Given the description of an element on the screen output the (x, y) to click on. 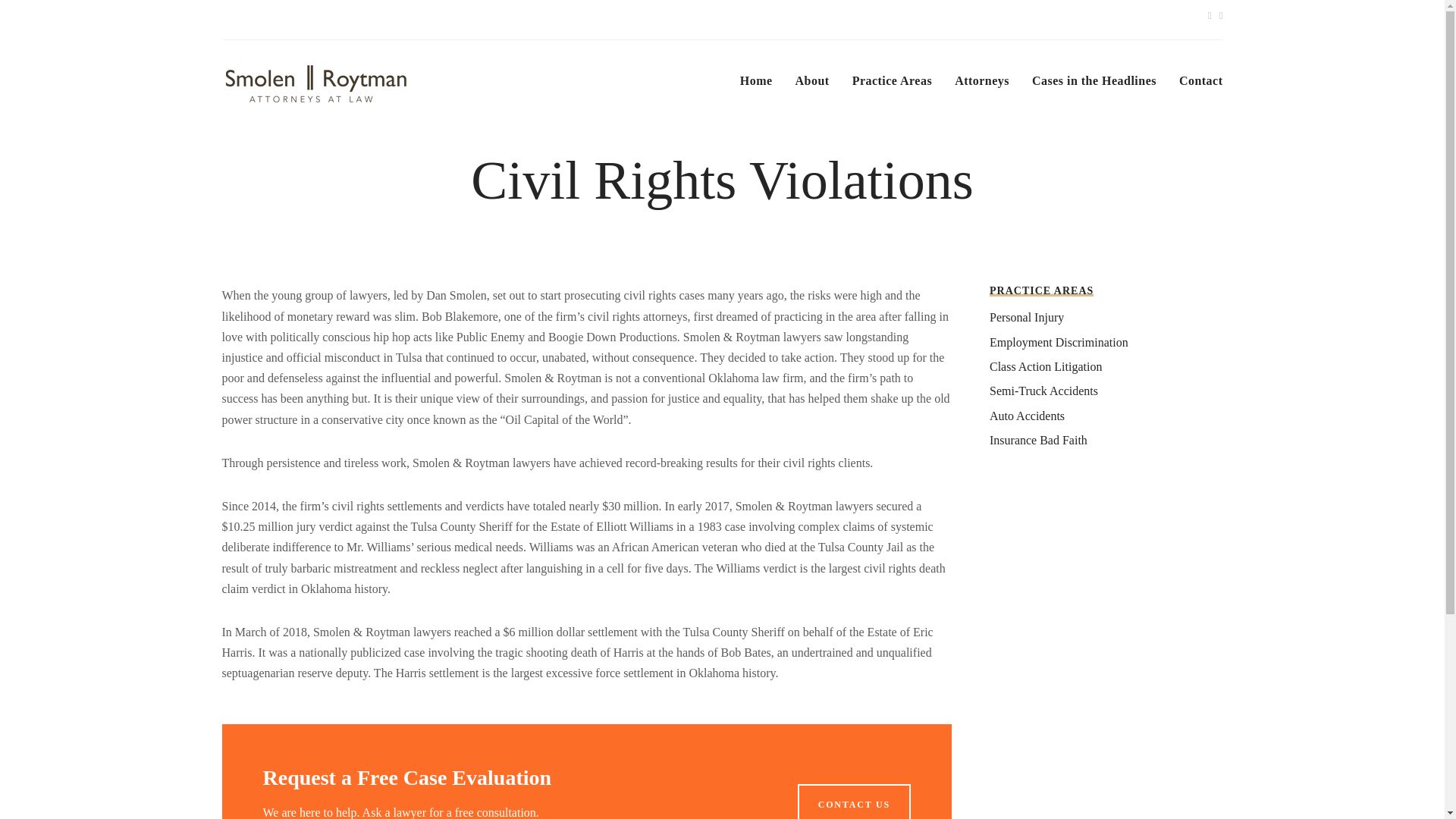
Cases in the Headlines (1094, 89)
Auto Accidents (1027, 415)
Employment Discrimination (1059, 341)
CONTACT US (854, 801)
Contact (1201, 89)
Practice Areas (892, 89)
Insurance Bad Faith (1038, 440)
Class Action Litigation (1046, 366)
Attorneys (982, 89)
Personal Injury (1027, 317)
